Given the description of an element on the screen output the (x, y) to click on. 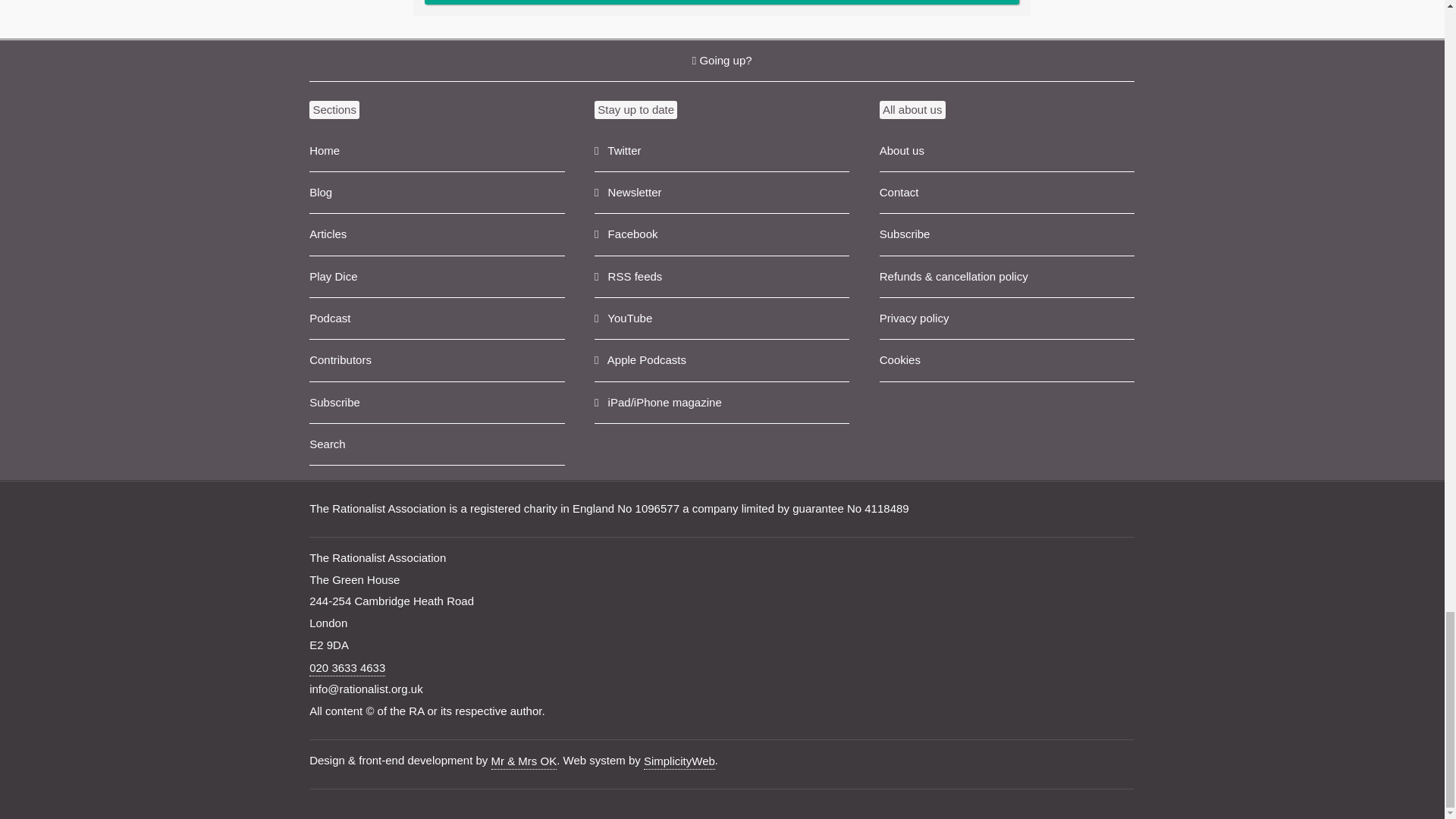
Newsletter (721, 192)
Podcast (436, 318)
Apple Podcasts (721, 360)
Search (436, 445)
Going up? (721, 60)
Facebook (721, 234)
RSS feeds (721, 277)
Twitter (721, 150)
Home (436, 150)
Play Dice (436, 277)
Subscribe (436, 403)
Contributors (436, 360)
YouTube (721, 318)
About us (1006, 150)
